Given the description of an element on the screen output the (x, y) to click on. 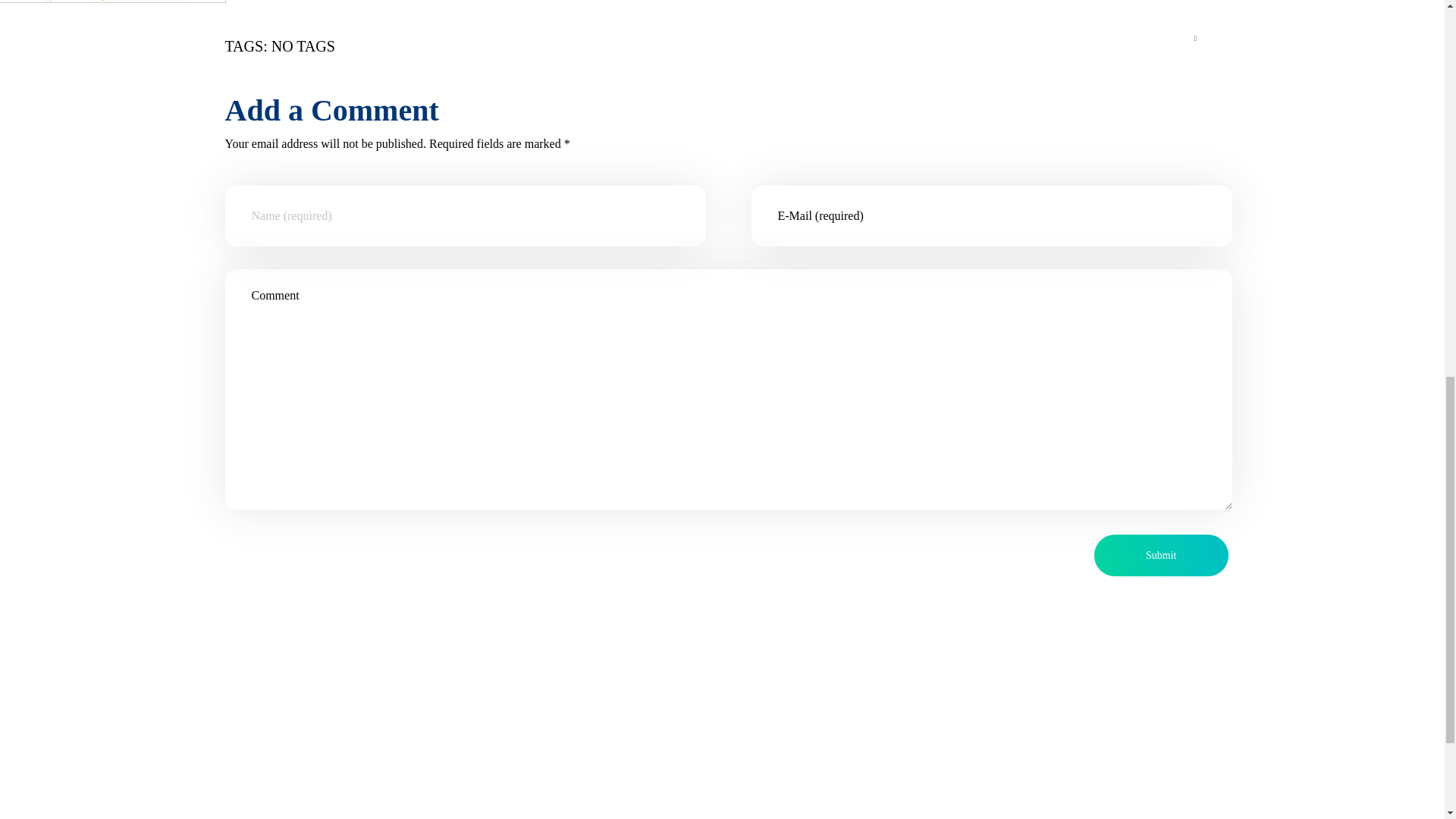
aiga (112, 1)
Submit (1160, 555)
Submit (1160, 555)
